Given the description of an element on the screen output the (x, y) to click on. 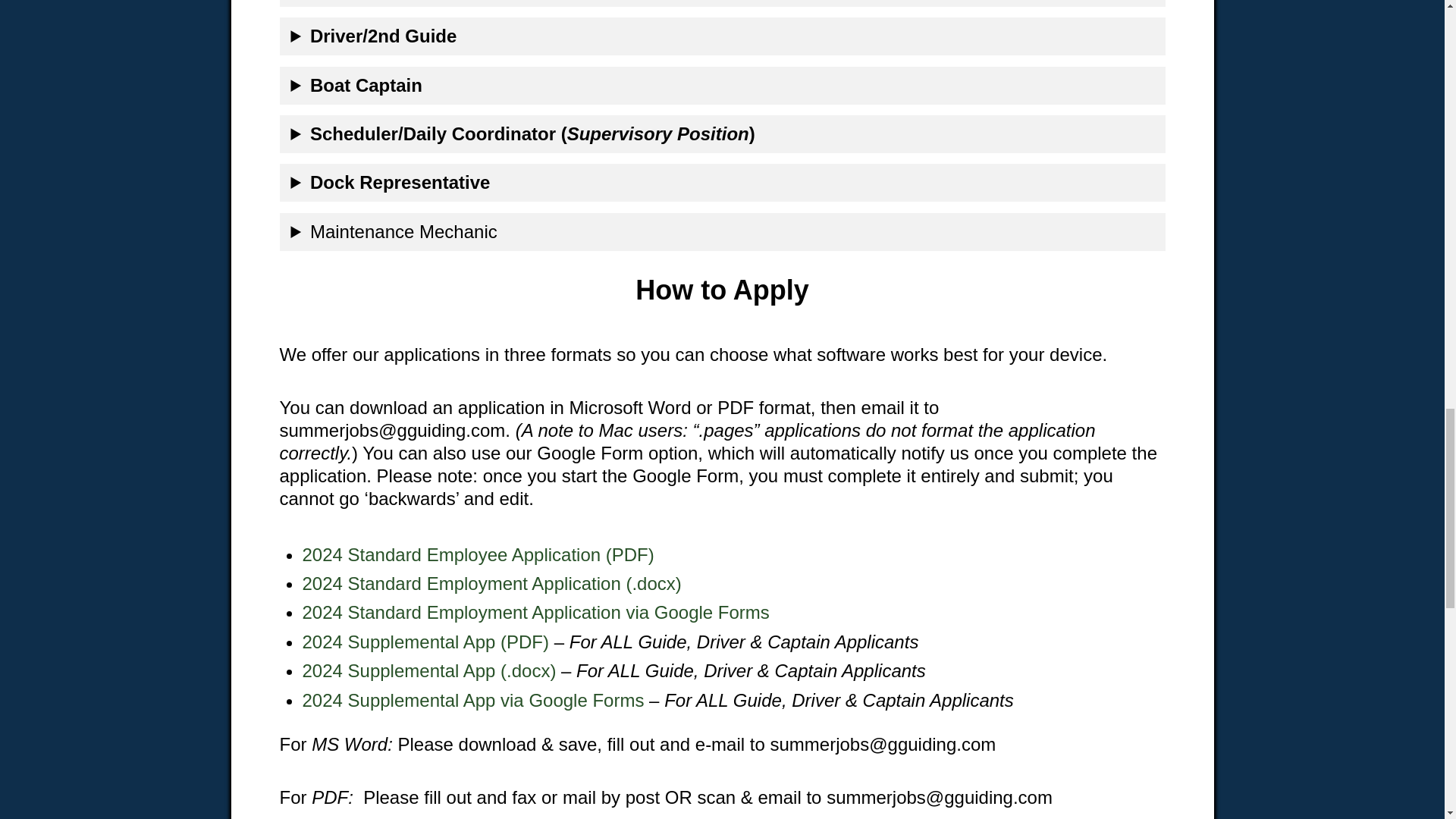
2024 Supplemental App via Google Forms (472, 700)
2024 Standard Employment Application via Google Forms (534, 611)
